Given the description of an element on the screen output the (x, y) to click on. 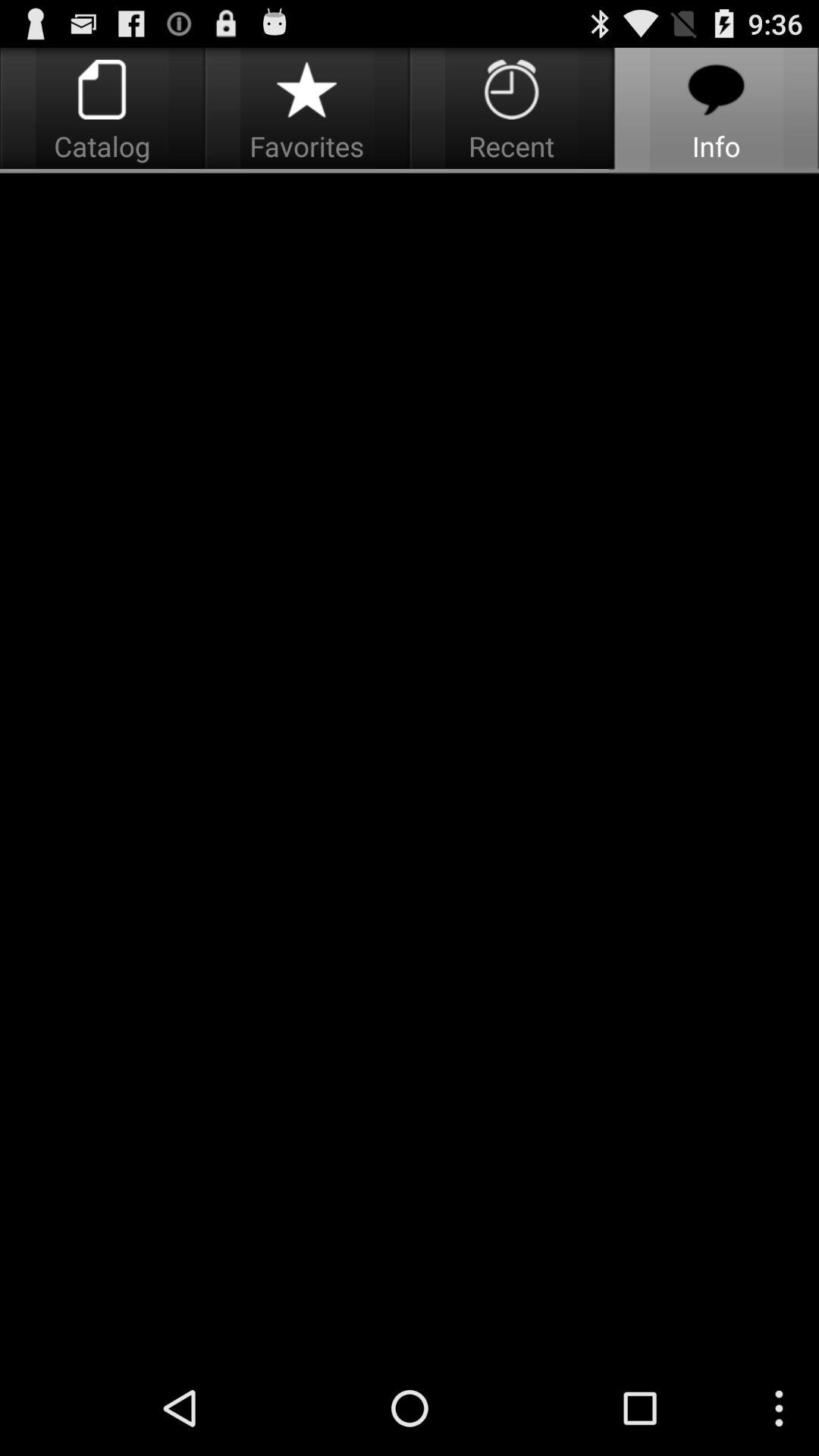
click item at the center (409, 767)
